Given the description of an element on the screen output the (x, y) to click on. 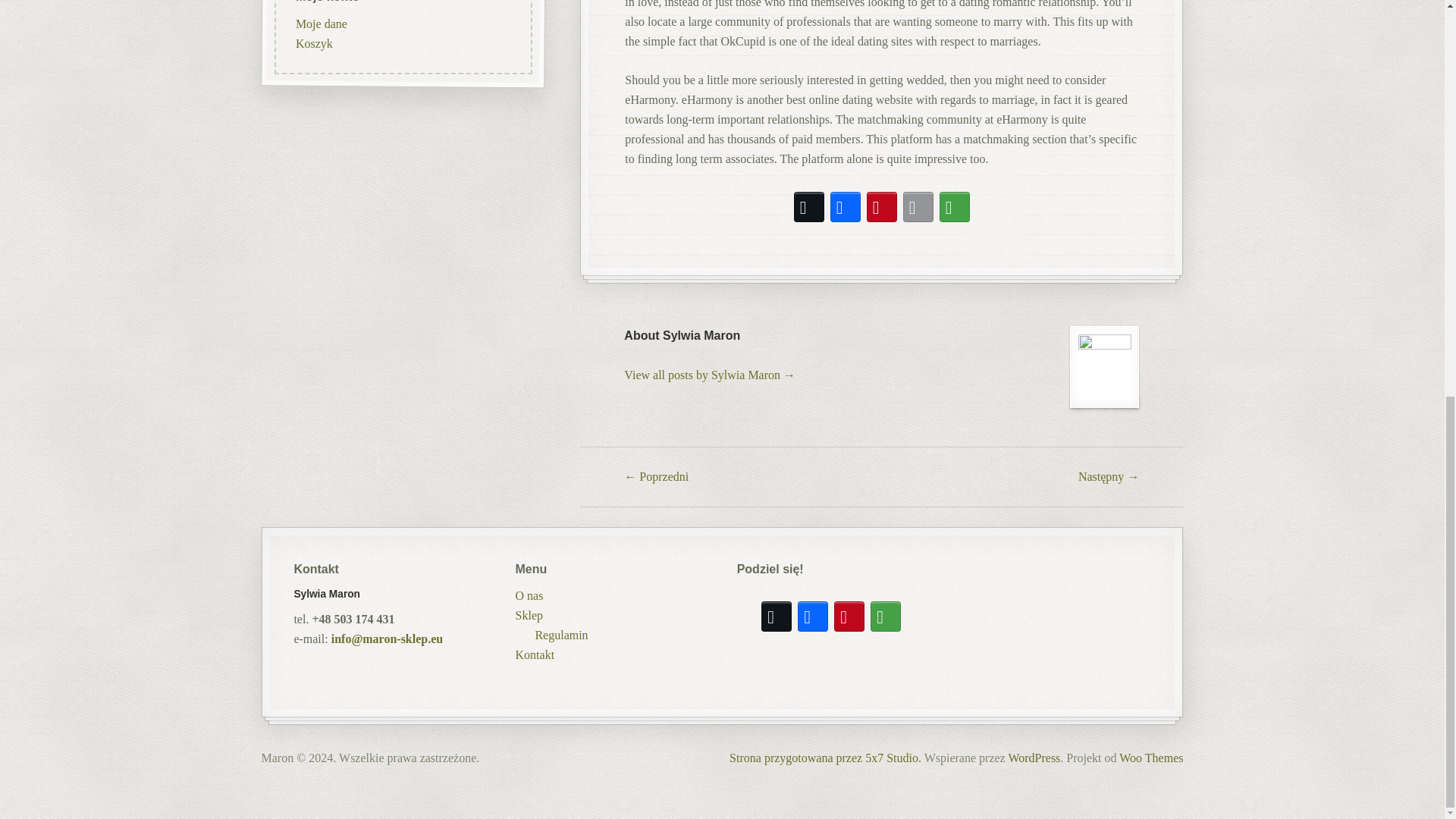
Pinterest (881, 207)
Facebook (845, 207)
Pinterest (849, 616)
Facebook (812, 616)
More Options (954, 207)
Email This (917, 207)
